Given the description of an element on the screen output the (x, y) to click on. 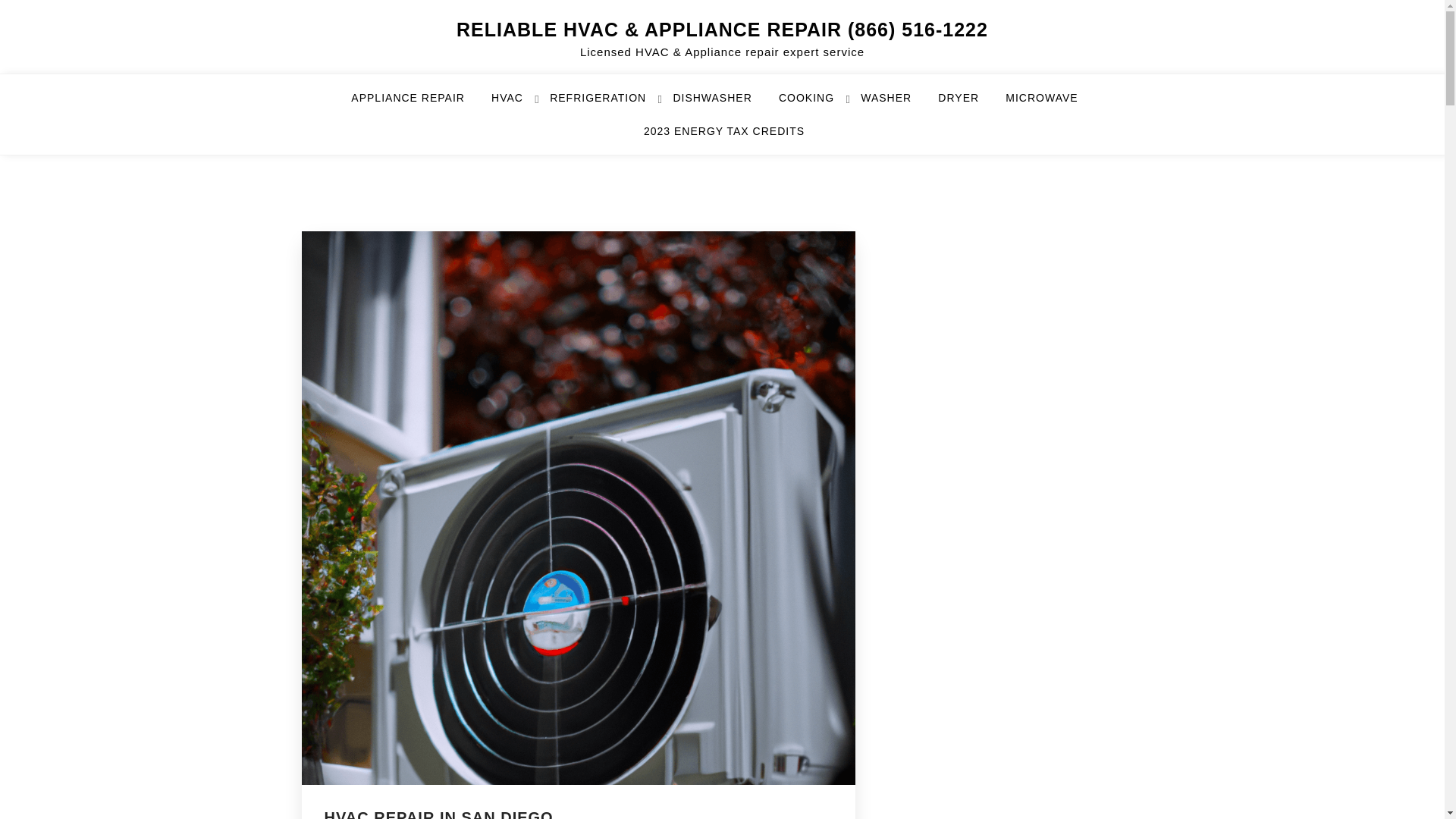
MICROWAVE (1051, 104)
WASHER (895, 104)
APPLIANCE REPAIR (416, 104)
DRYER (967, 104)
REFRIGERATION (607, 104)
COOKING (815, 104)
DISHWASHER (721, 104)
HVAC (516, 104)
2023 ENERGY TAX CREDITS (724, 137)
